Given the description of an element on the screen output the (x, y) to click on. 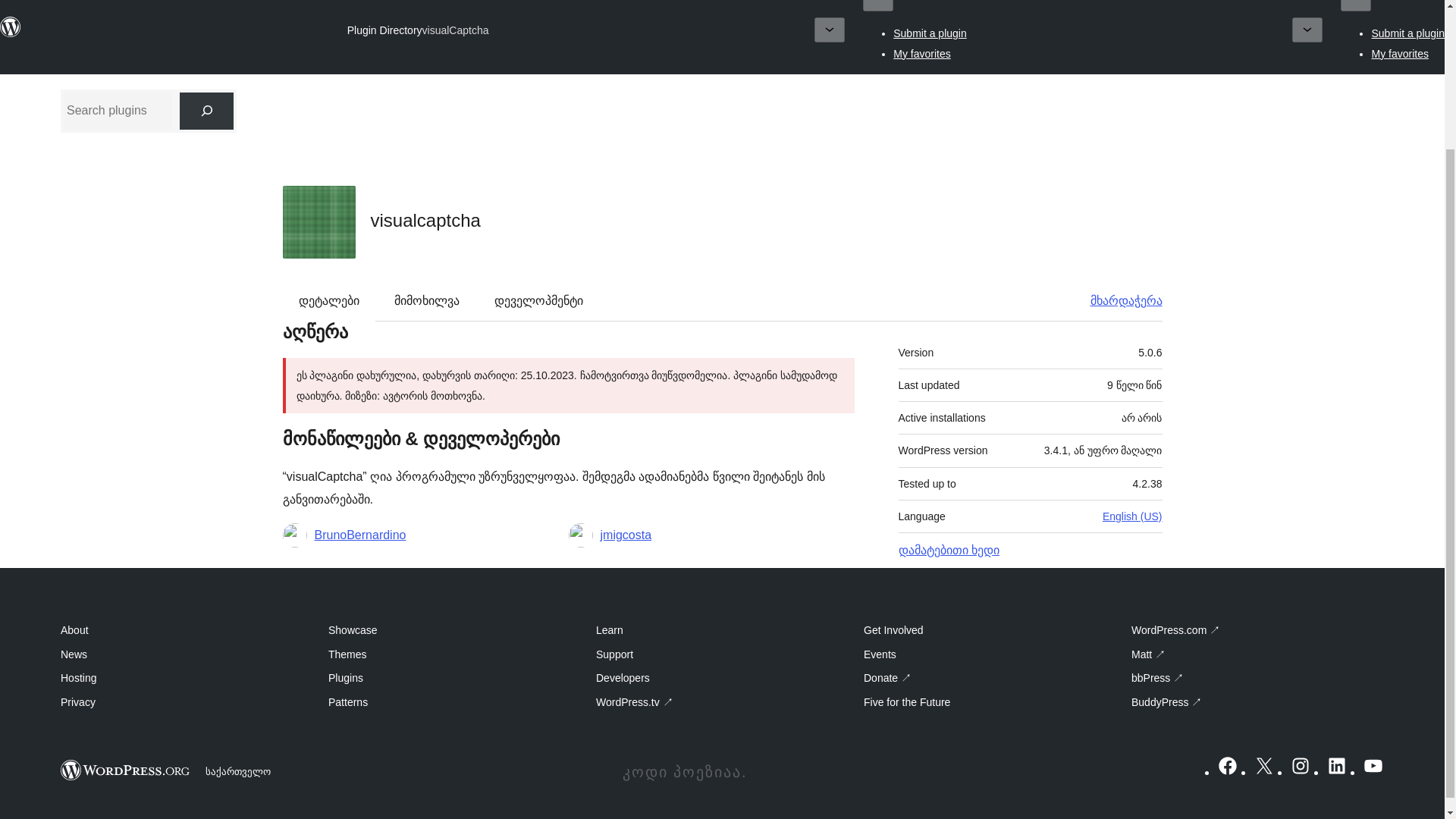
My favorites (921, 53)
My favorites (1399, 53)
WordPress.org (125, 770)
visualCaptcha (455, 29)
WordPress.org (10, 33)
Submit a plugin (929, 33)
WordPress.org (10, 26)
BrunoBernardino (360, 535)
jmigcosta (625, 535)
News (203, 3)
Plugin Directory (384, 30)
